Given the description of an element on the screen output the (x, y) to click on. 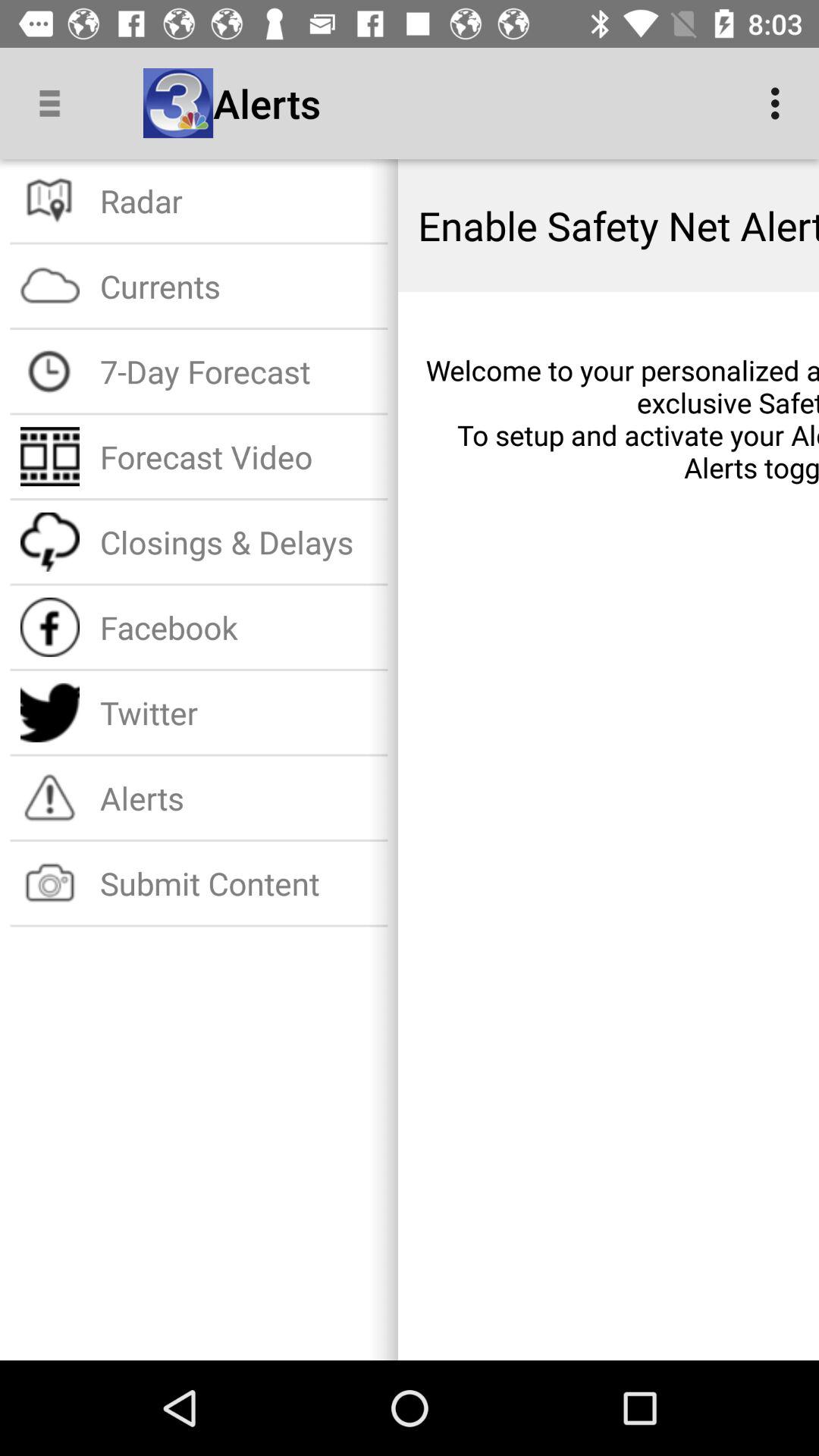
select facebook item (238, 626)
